Given the description of an element on the screen output the (x, y) to click on. 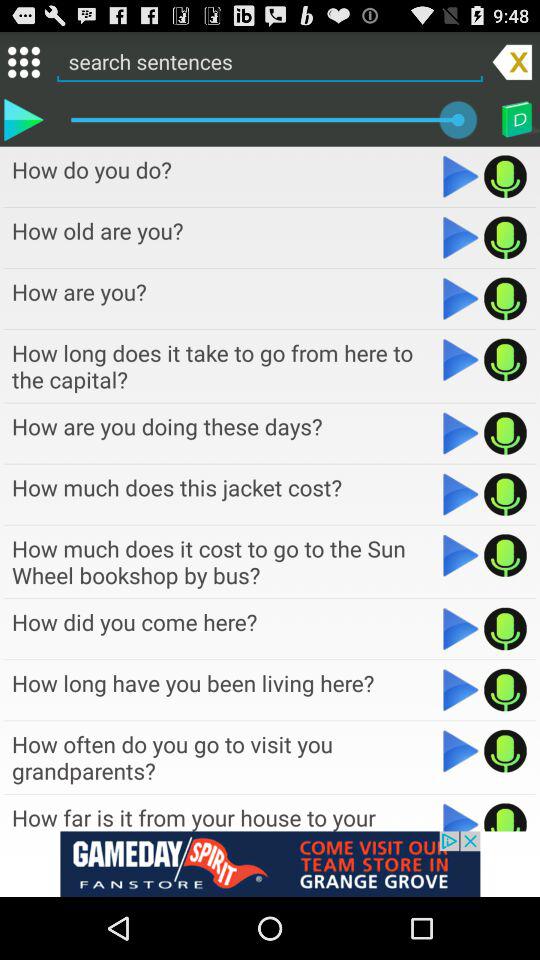
record voice (505, 433)
